Given the description of an element on the screen output the (x, y) to click on. 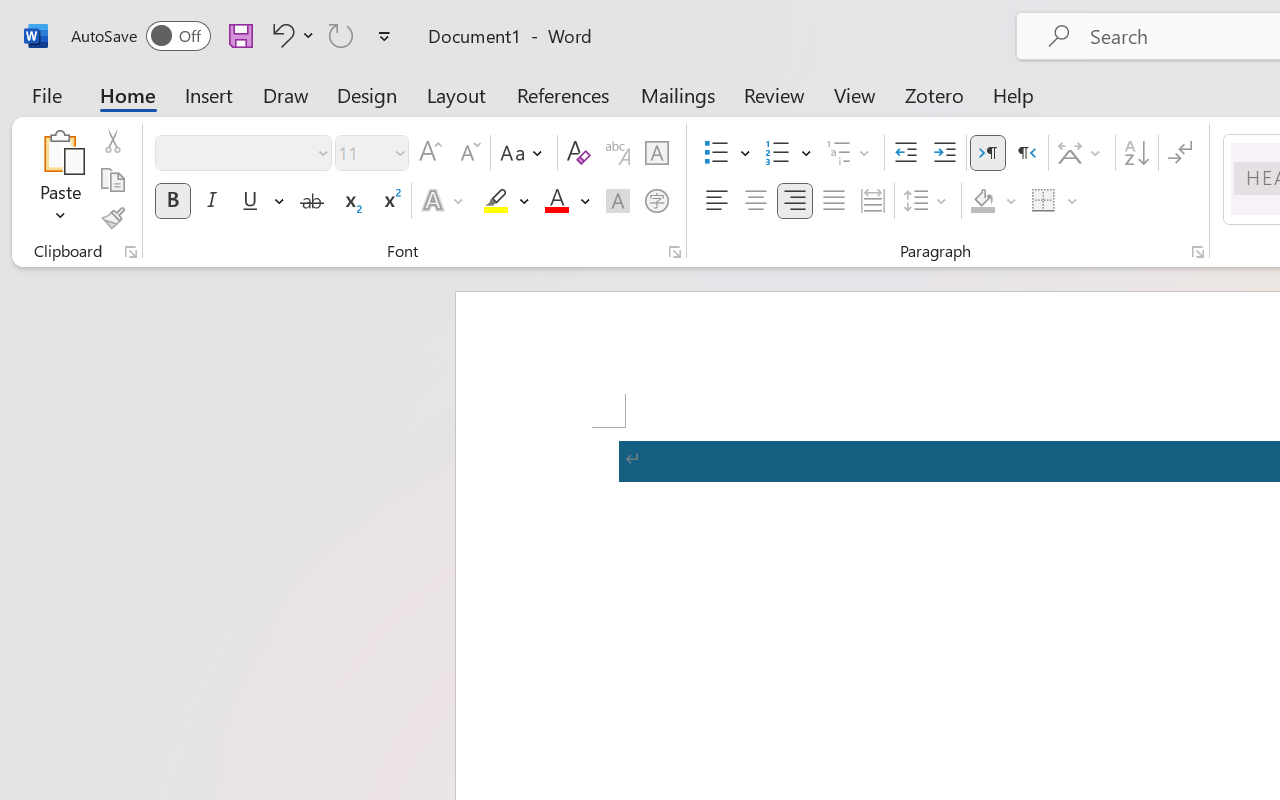
Undo (280, 35)
Repeat TCSCTranslate (341, 35)
Left-to-Right (988, 153)
